Given the description of an element on the screen output the (x, y) to click on. 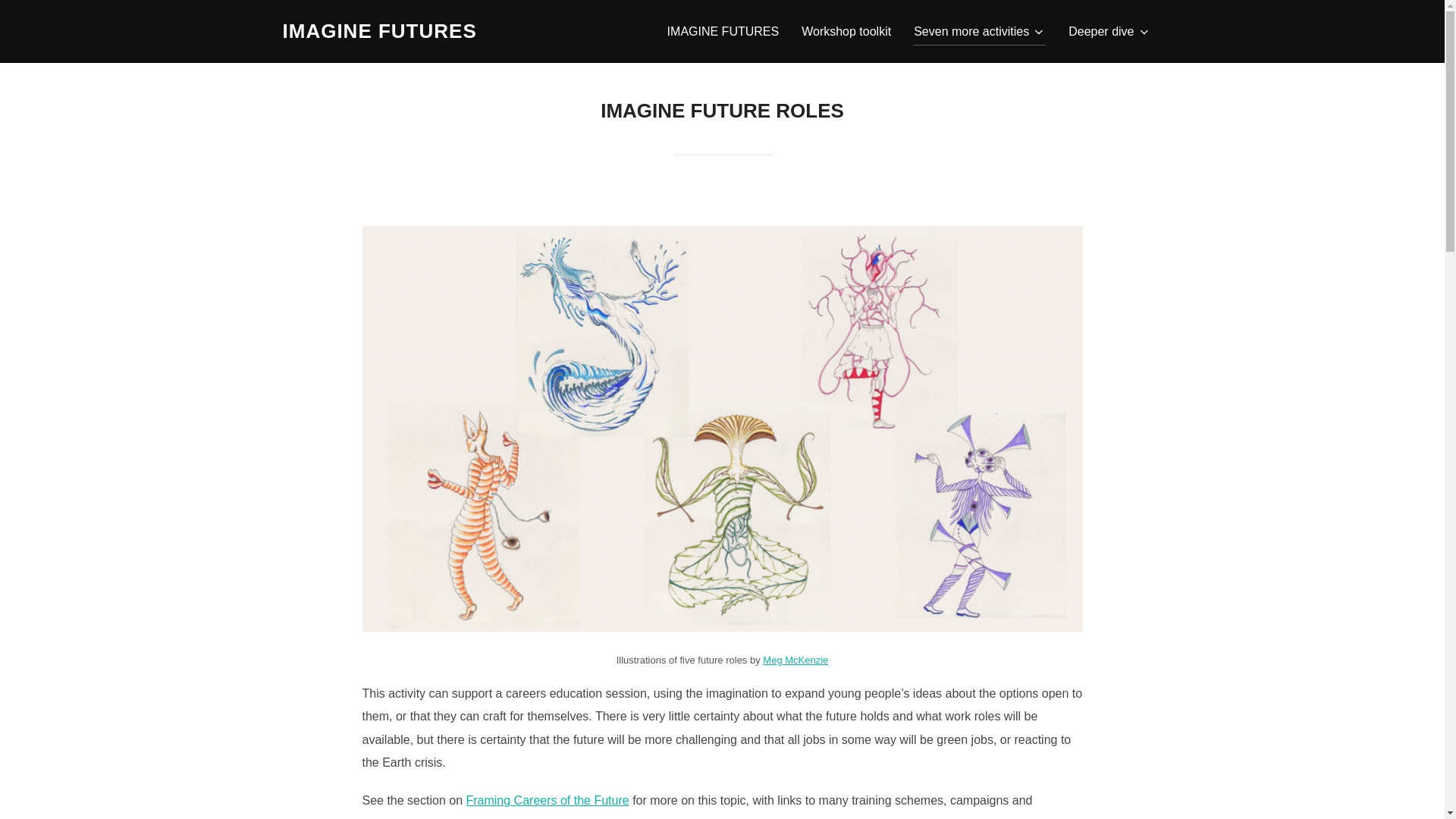
IMAGINE FUTURES (379, 31)
Framing Careers of the Future (546, 799)
Seven more activities (979, 30)
IMAGINE FUTURES (722, 30)
Meg McKenzie (795, 659)
Creative tools for imagining futures with young people (379, 31)
Deeper dive (1109, 30)
Workshop toolkit (846, 30)
